Given the description of an element on the screen output the (x, y) to click on. 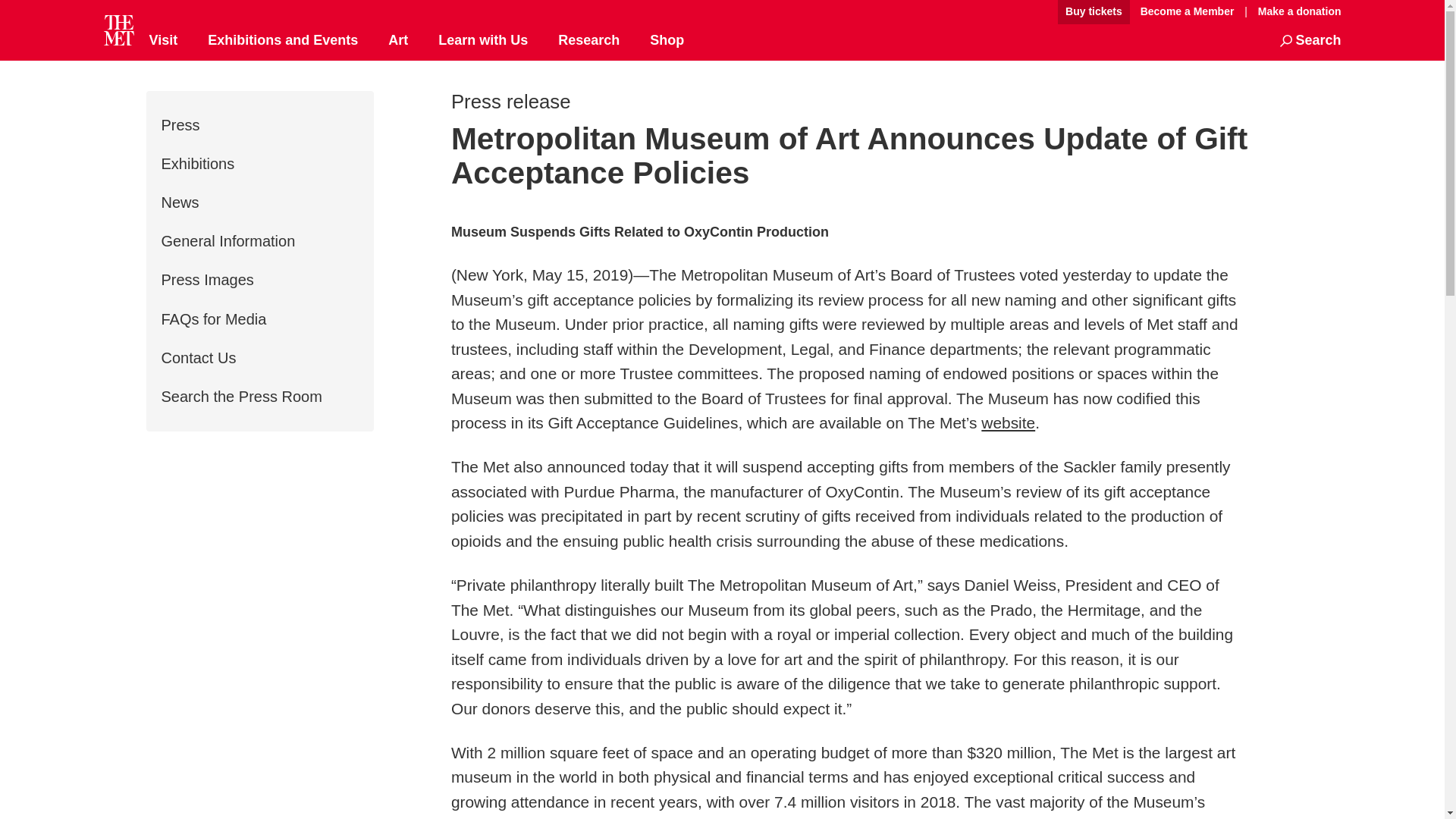
tickets (1093, 12)
Member (1186, 12)
Exhibitions (197, 163)
Homepage (118, 30)
Research (588, 41)
Visit (162, 41)
Press (179, 125)
Make a donation (1295, 11)
Search (1309, 41)
Search Button (1309, 41)
News (179, 202)
Learn with Us (482, 41)
Exhibitions and Events (283, 41)
Shop (666, 41)
